Given the description of an element on the screen output the (x, y) to click on. 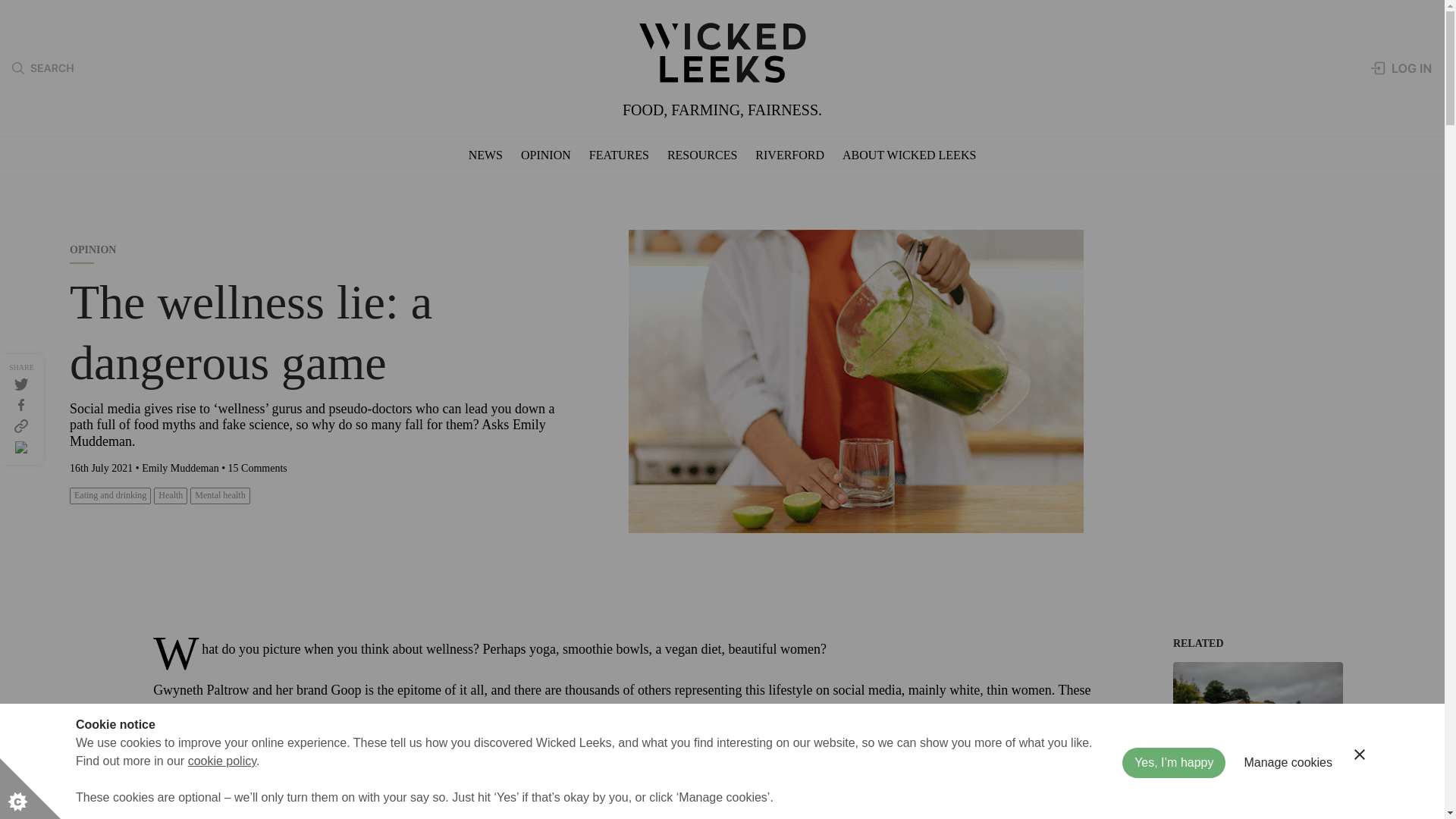
OPINION (545, 155)
FEATURES (618, 155)
Manage cookies (1287, 797)
RIVERFORD (788, 155)
RESOURCES (701, 155)
Posts by Emily Muddeman (180, 468)
NEWS (486, 155)
ABOUT WICKED LEEKS (908, 155)
